Given the description of an element on the screen output the (x, y) to click on. 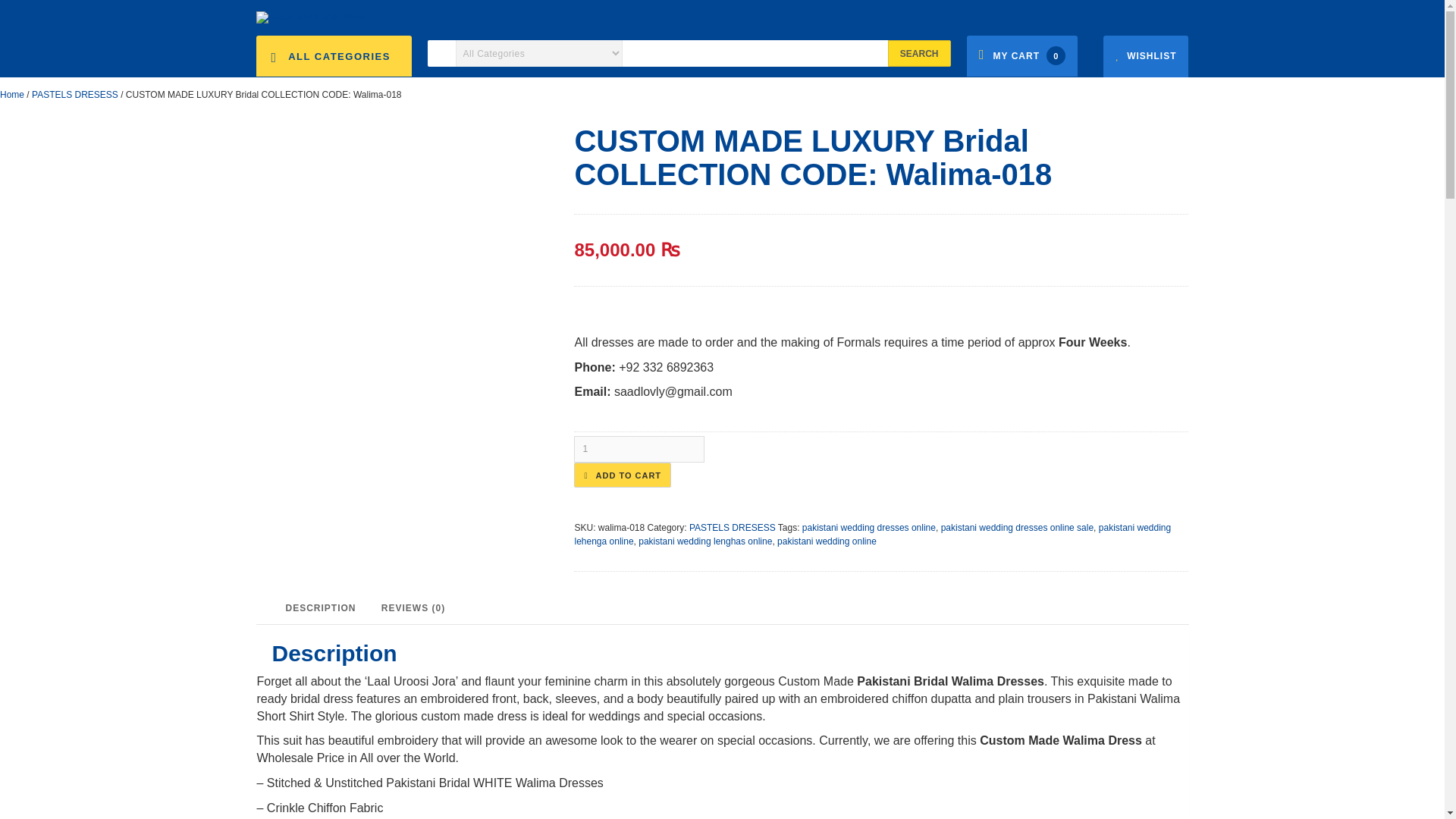
My Wishlist (1145, 55)
1 (638, 448)
Search (919, 53)
